Given the description of an element on the screen output the (x, y) to click on. 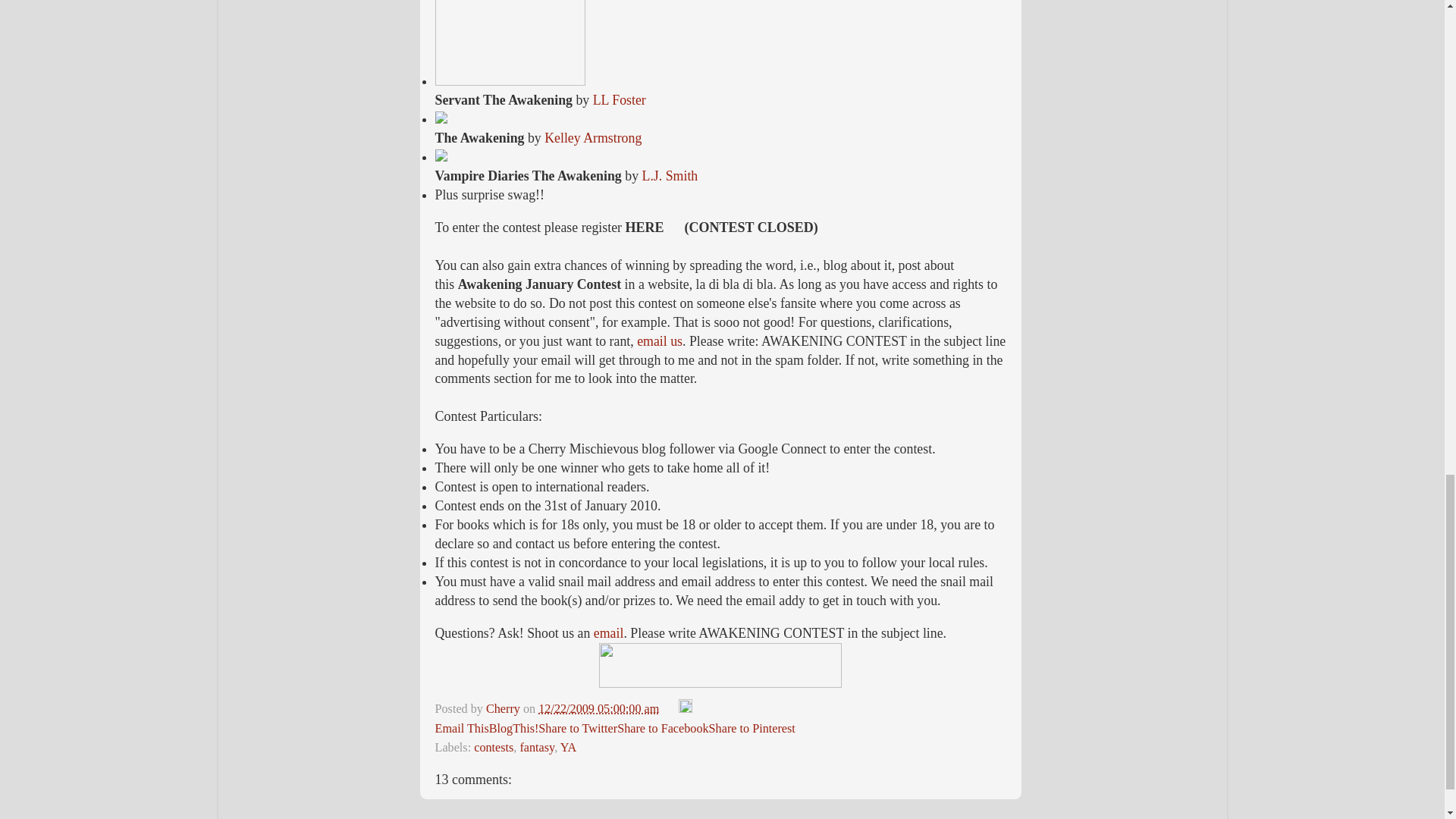
Edit Post (685, 708)
Kelley Armstrong (593, 137)
author profile (504, 708)
Email This (462, 728)
LL Foster (619, 99)
Email Post (670, 708)
Share to Twitter (577, 728)
Share to Pinterest (751, 728)
Share to Pinterest (751, 728)
BlogThis! (513, 728)
YA (568, 747)
Share to Twitter (577, 728)
L.J. Smith (669, 175)
Share to Facebook (662, 728)
email us (659, 340)
